Given the description of an element on the screen output the (x, y) to click on. 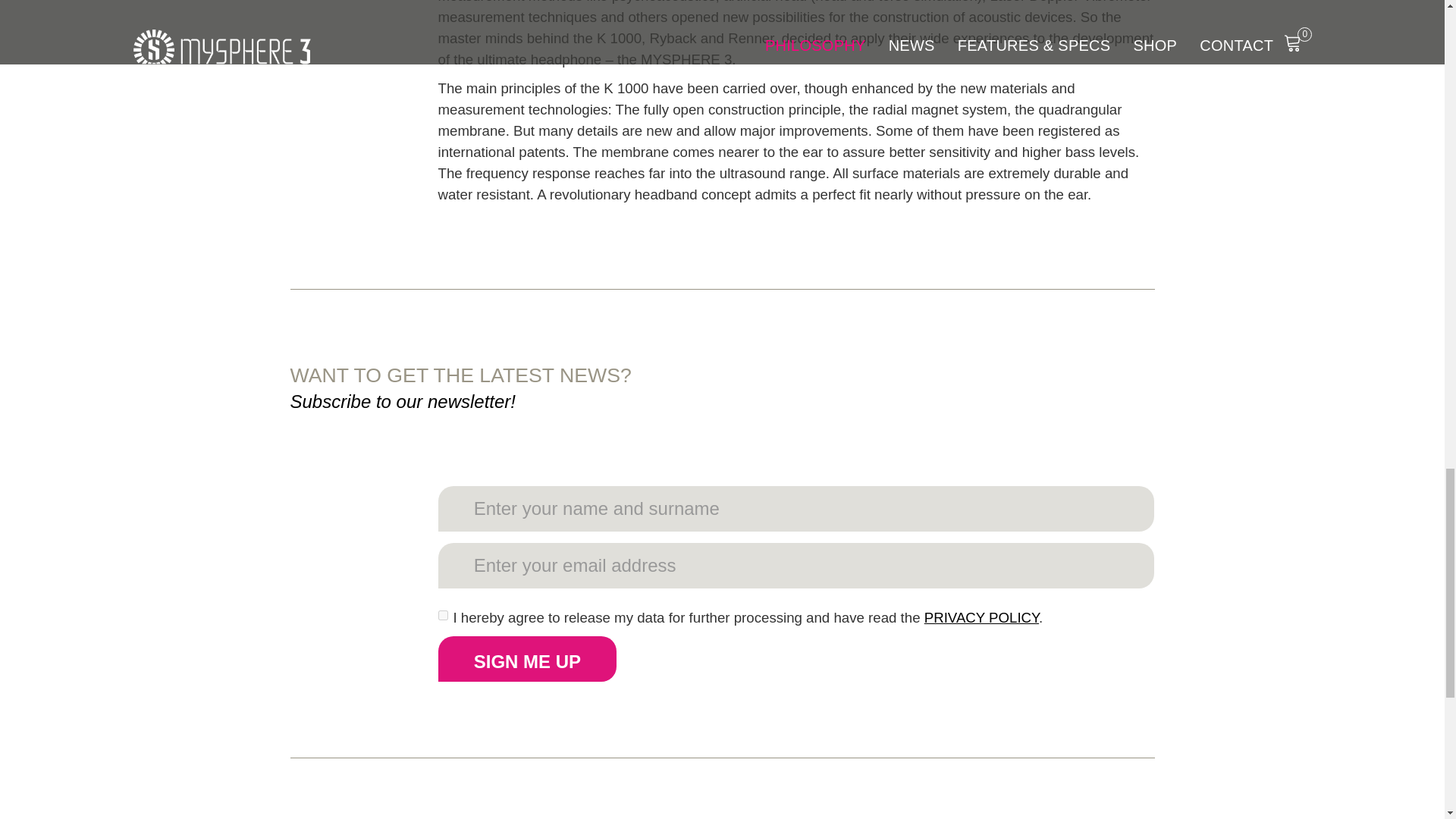
true (443, 614)
PRIVACY POLICY (981, 617)
Sign Me Up (527, 658)
Sign Me Up (527, 658)
